Given the description of an element on the screen output the (x, y) to click on. 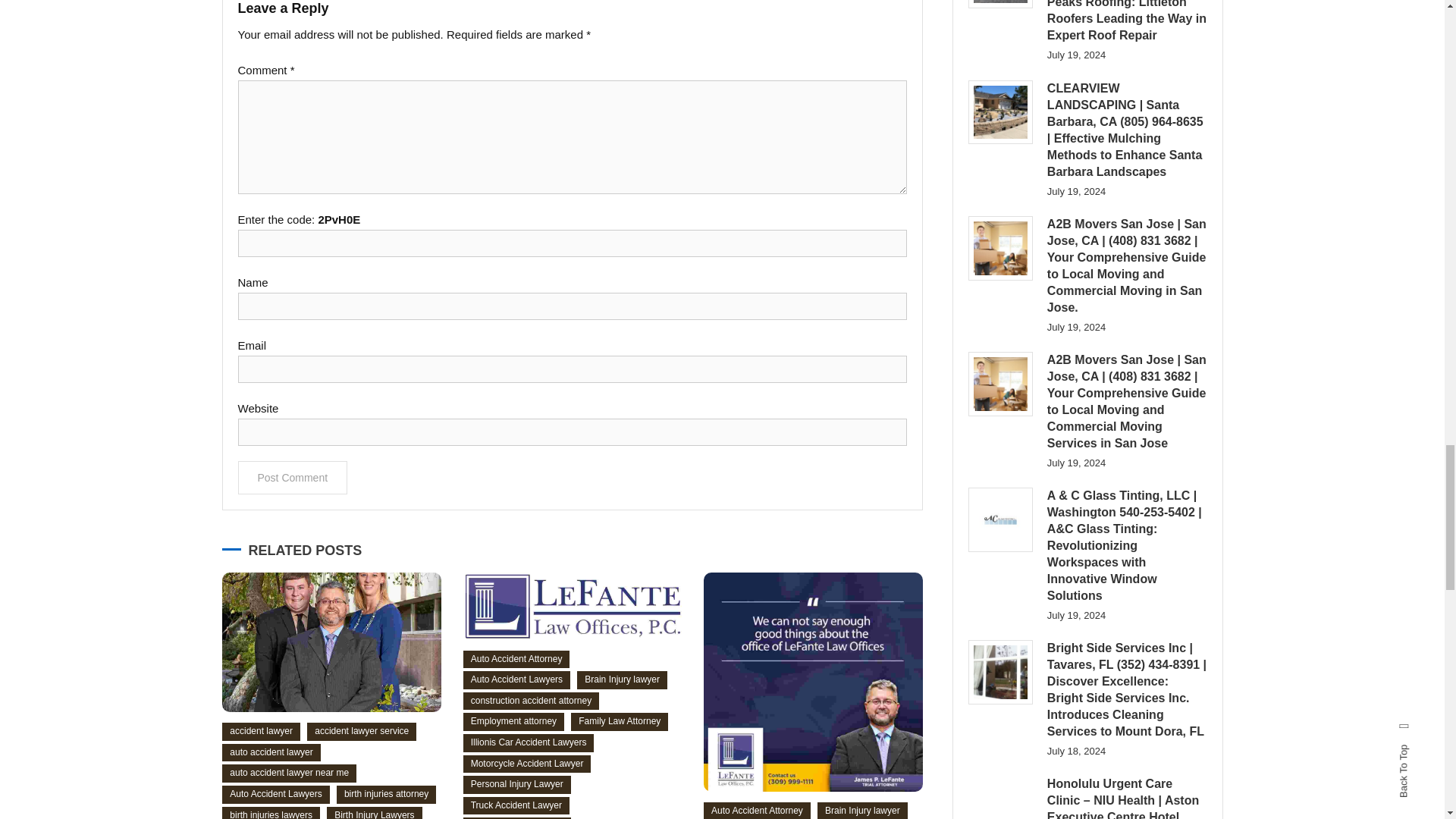
Post Comment (292, 477)
